Given the description of an element on the screen output the (x, y) to click on. 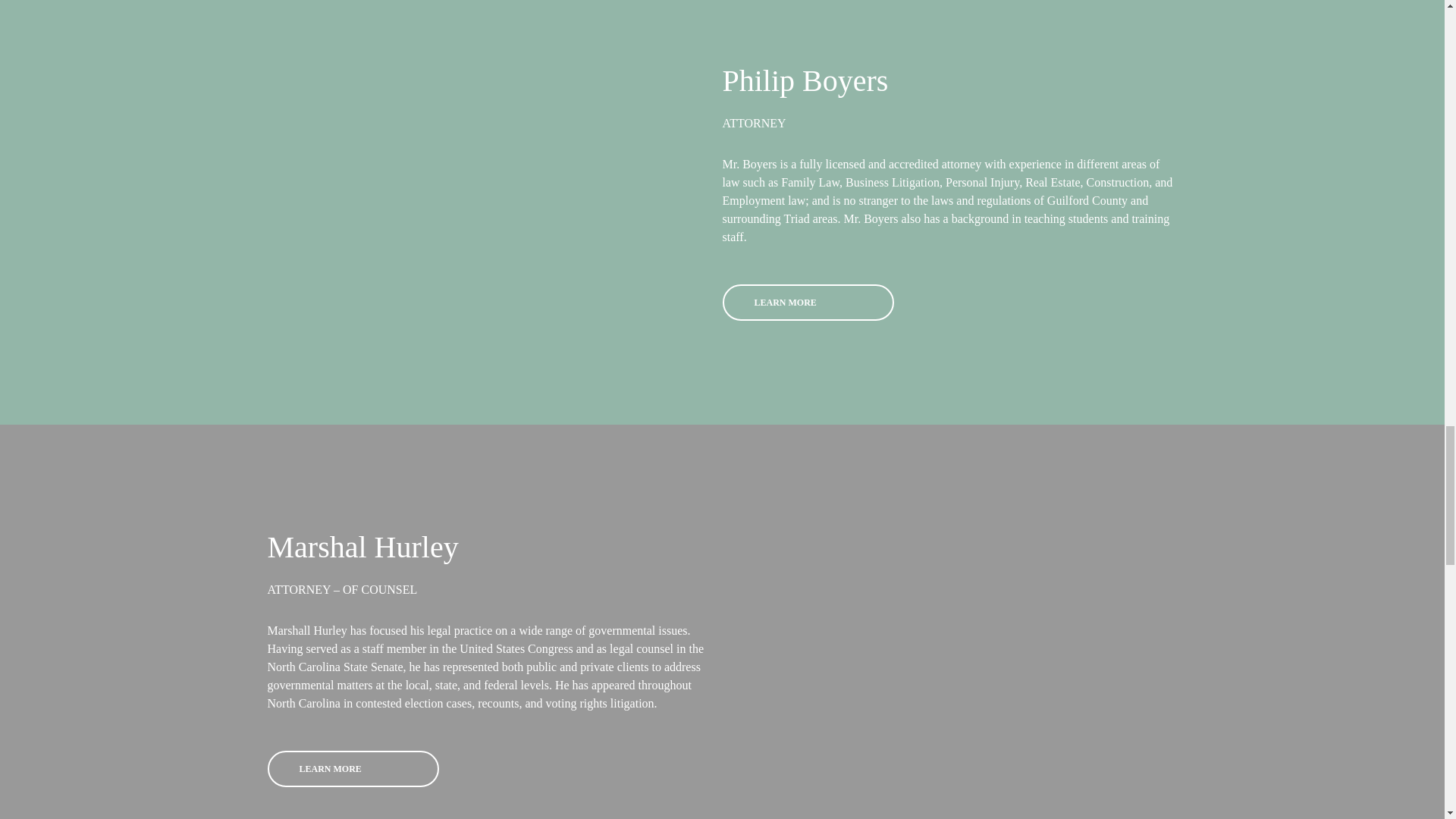
LEARN MORE (807, 302)
